Given the description of an element on the screen output the (x, y) to click on. 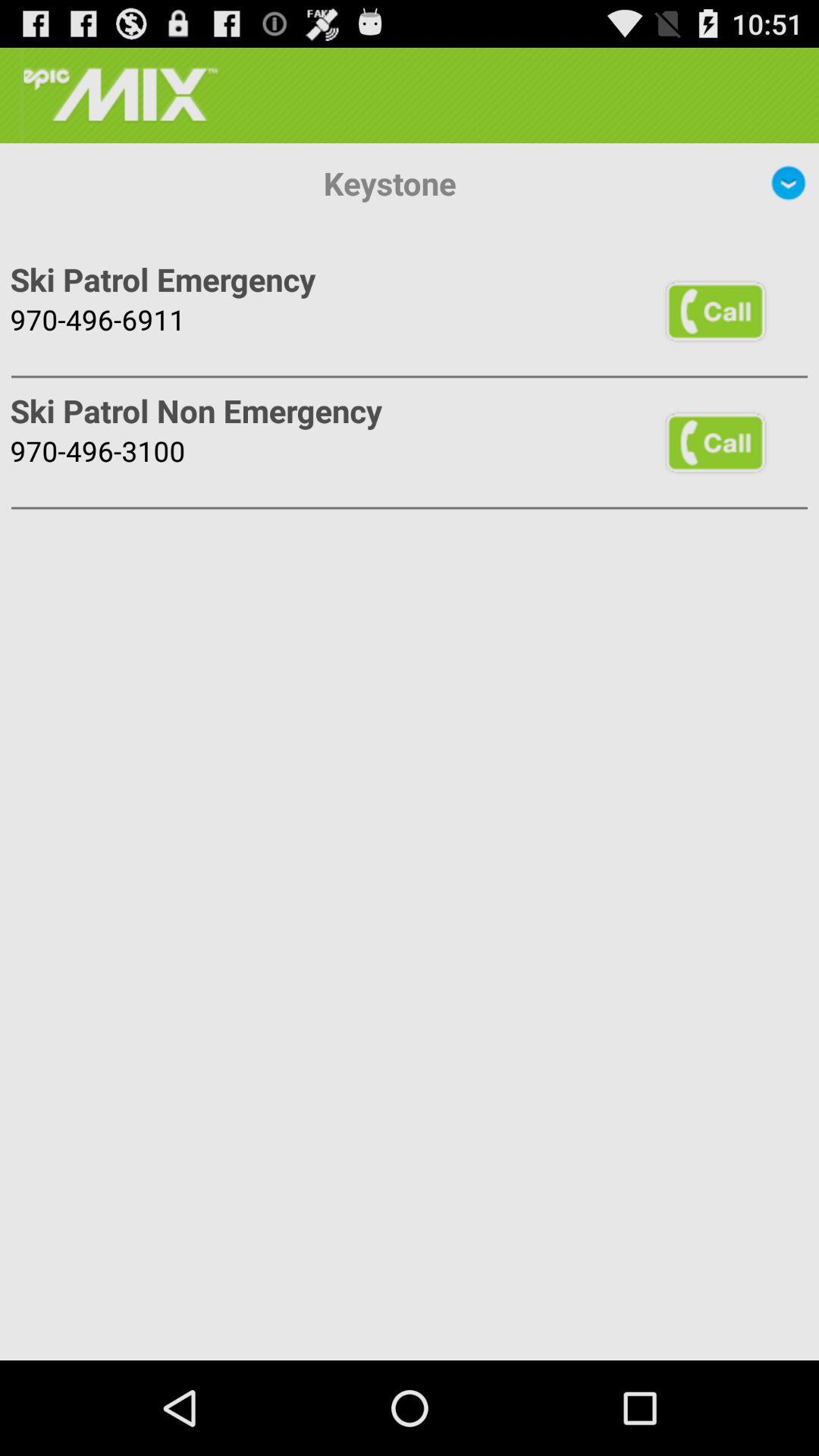
click icon next to the keystone app (788, 183)
